Given the description of an element on the screen output the (x, y) to click on. 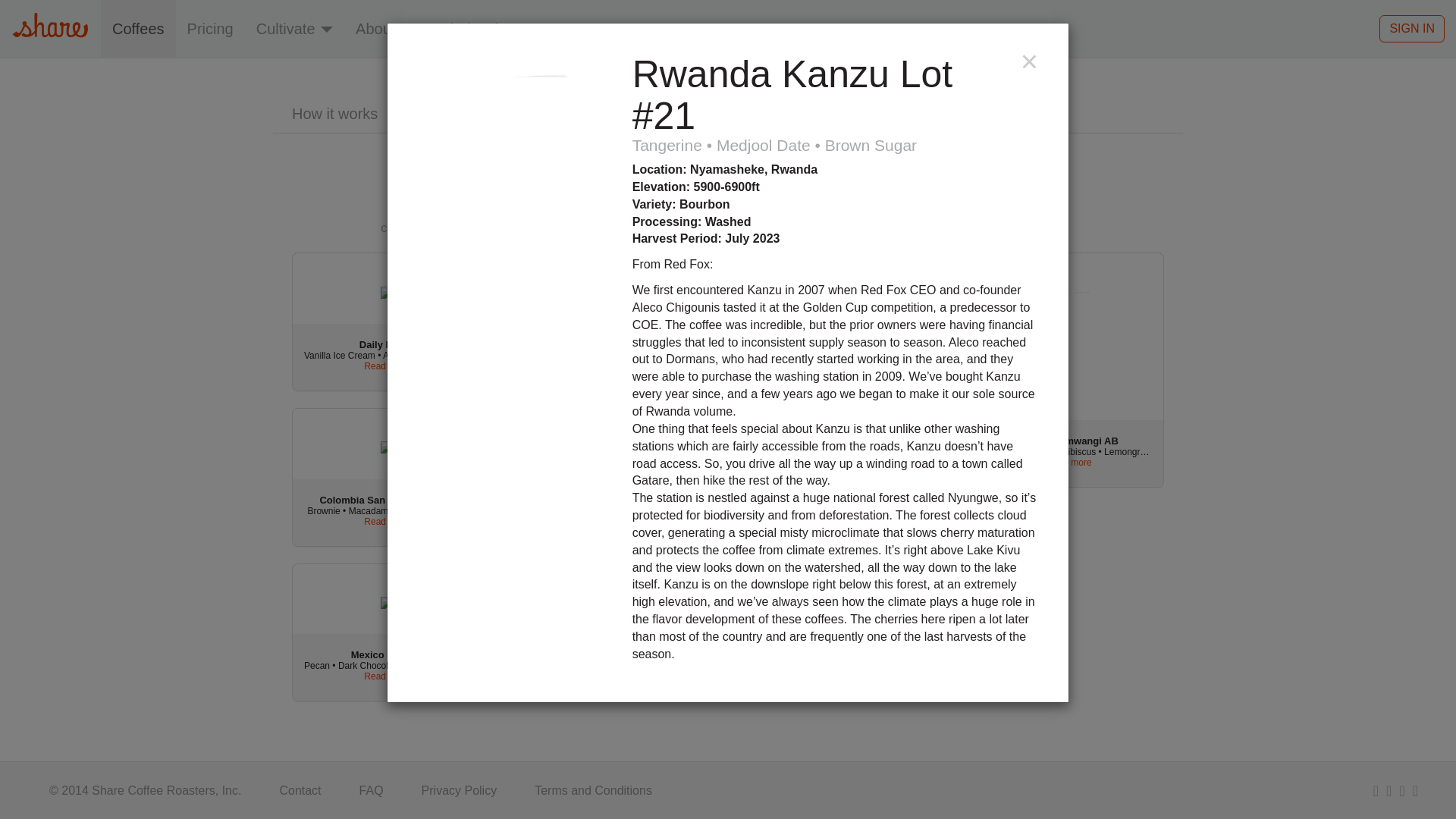
Read more (386, 675)
Read more (1068, 462)
Team (461, 113)
About (384, 28)
Read more (613, 366)
Cultivate (293, 28)
SIGN IN (1411, 29)
Wholesale (471, 28)
How it works (343, 113)
FAQ (552, 113)
